Given the description of an element on the screen output the (x, y) to click on. 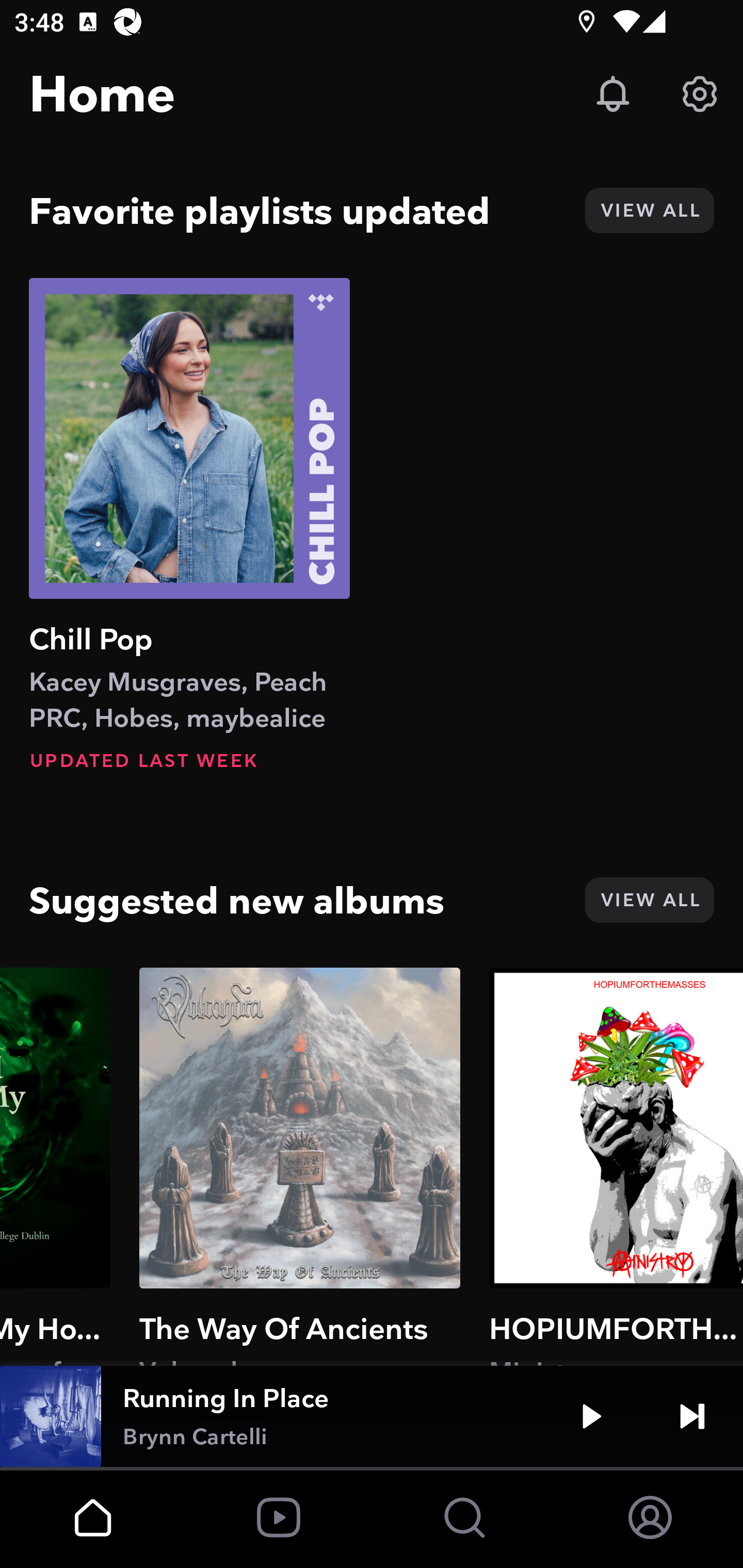
Updates (612, 93)
Settings (699, 93)
VIEW ALL (649, 210)
VIEW ALL (649, 899)
The Way Of Ancients Volcandra (299, 1166)
HOPIUMFORTHEMASSES Ministry (615, 1166)
Running In Place Brynn Cartelli Play (371, 1416)
Play (590, 1416)
